Given the description of an element on the screen output the (x, y) to click on. 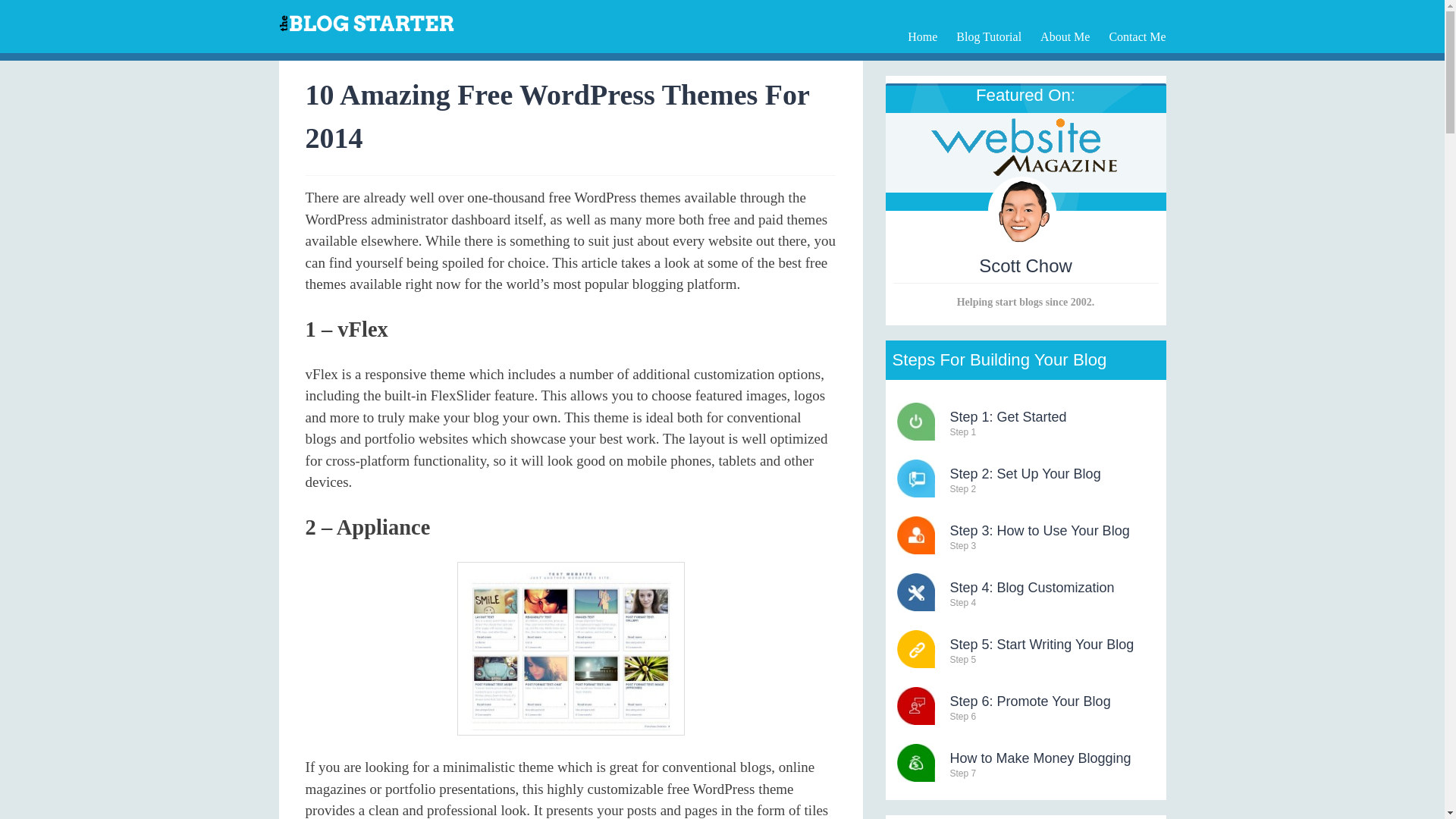
Contact Me (1137, 36)
Blog Tutorial (1025, 652)
Scott Chow (1025, 481)
Home (989, 36)
